Given the description of an element on the screen output the (x, y) to click on. 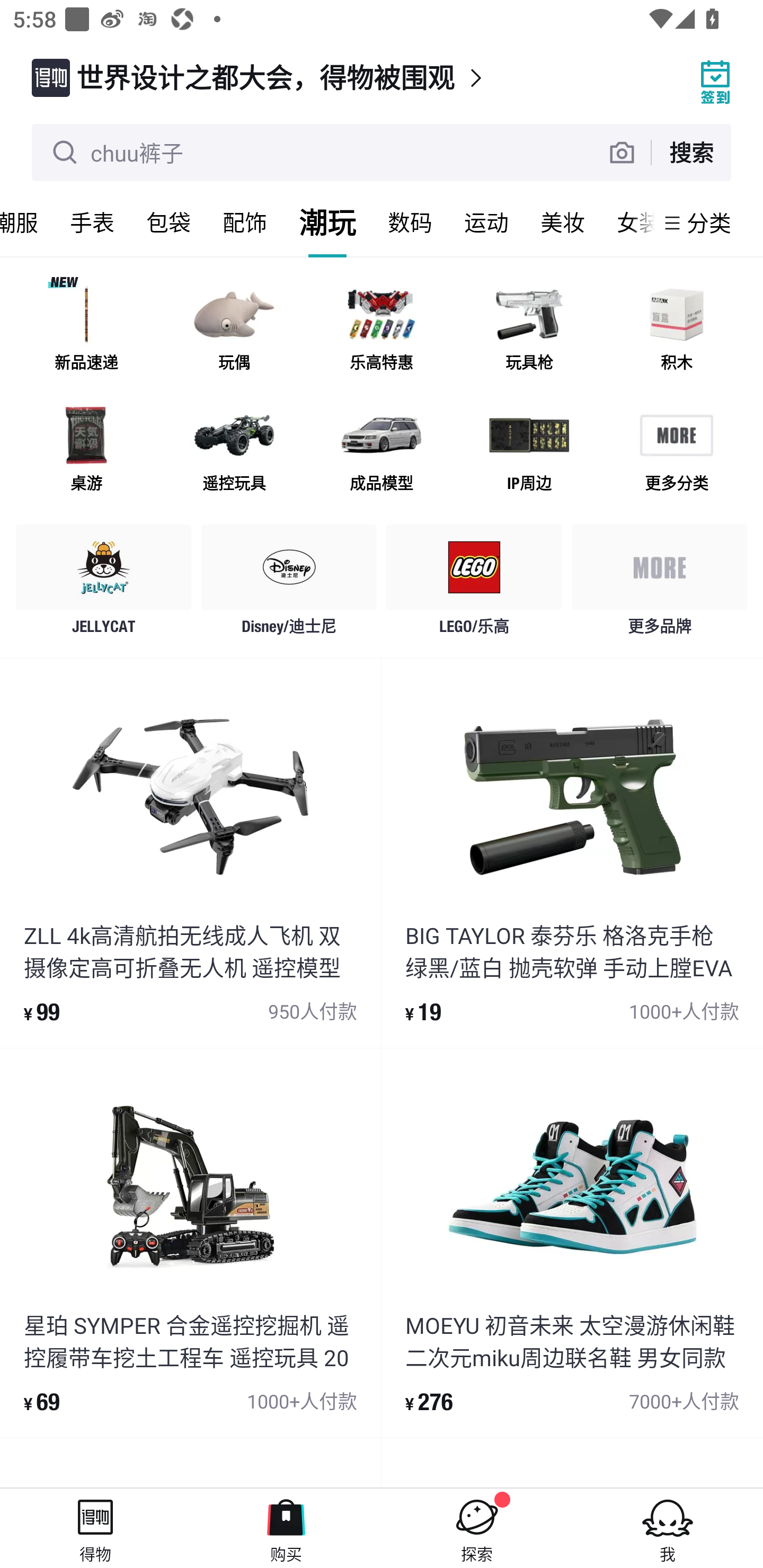
搜索 (690, 152)
潮服 (27, 222)
手表 (92, 222)
包袋 (168, 222)
配饰 (244, 222)
潮玩 (327, 222)
数码 (410, 222)
运动 (486, 222)
美妆 (562, 222)
女装 (627, 222)
分类 (708, 222)
新品速递 (86, 329)
玩偶 (233, 329)
乐高特惠 (381, 329)
玩具枪 (528, 329)
积木 (676, 329)
桌游 (86, 450)
遥控玩具 (233, 450)
成品模型 (381, 450)
IP周边 (528, 450)
更多分类 (676, 450)
JELLYCAT (103, 583)
Disney/迪士尼 (288, 583)
LEGO/乐高 (473, 583)
更多品牌 (658, 583)
得物 (95, 1528)
购买 (285, 1528)
探索 (476, 1528)
我 (667, 1528)
